Given the description of an element on the screen output the (x, y) to click on. 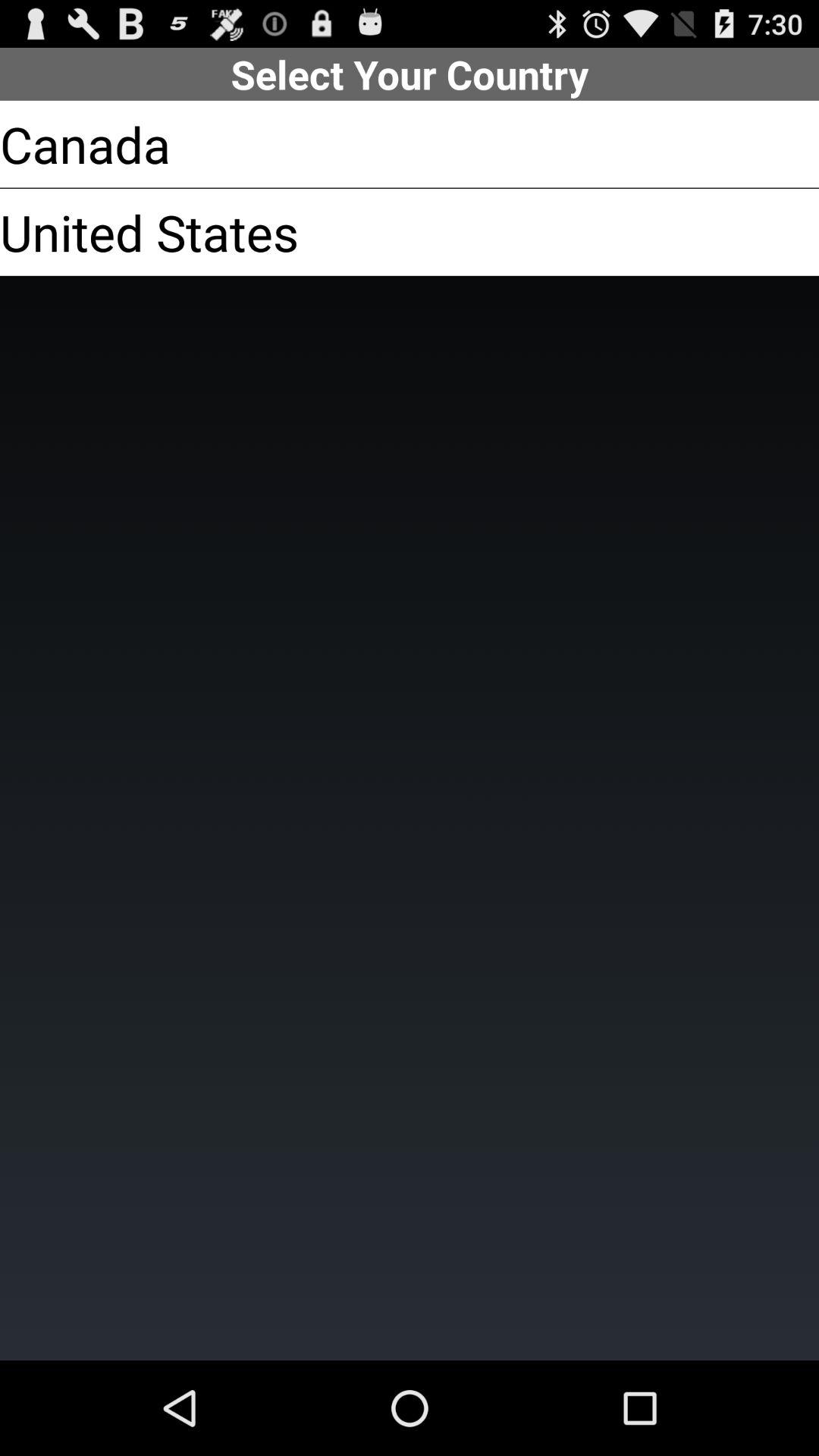
press the item below canada (149, 232)
